Given the description of an element on the screen output the (x, y) to click on. 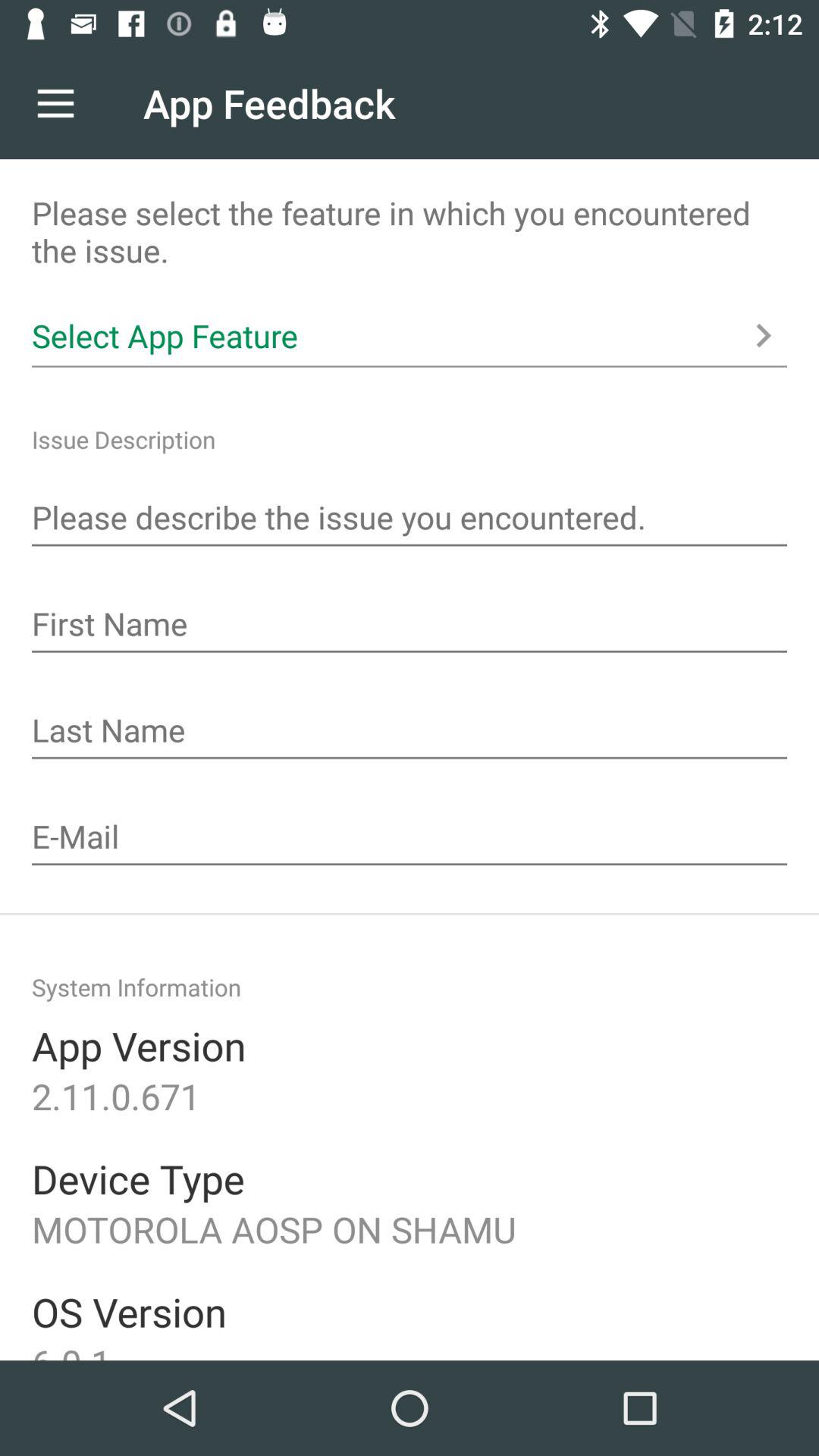
launch the icon below the issue description (409, 519)
